Given the description of an element on the screen output the (x, y) to click on. 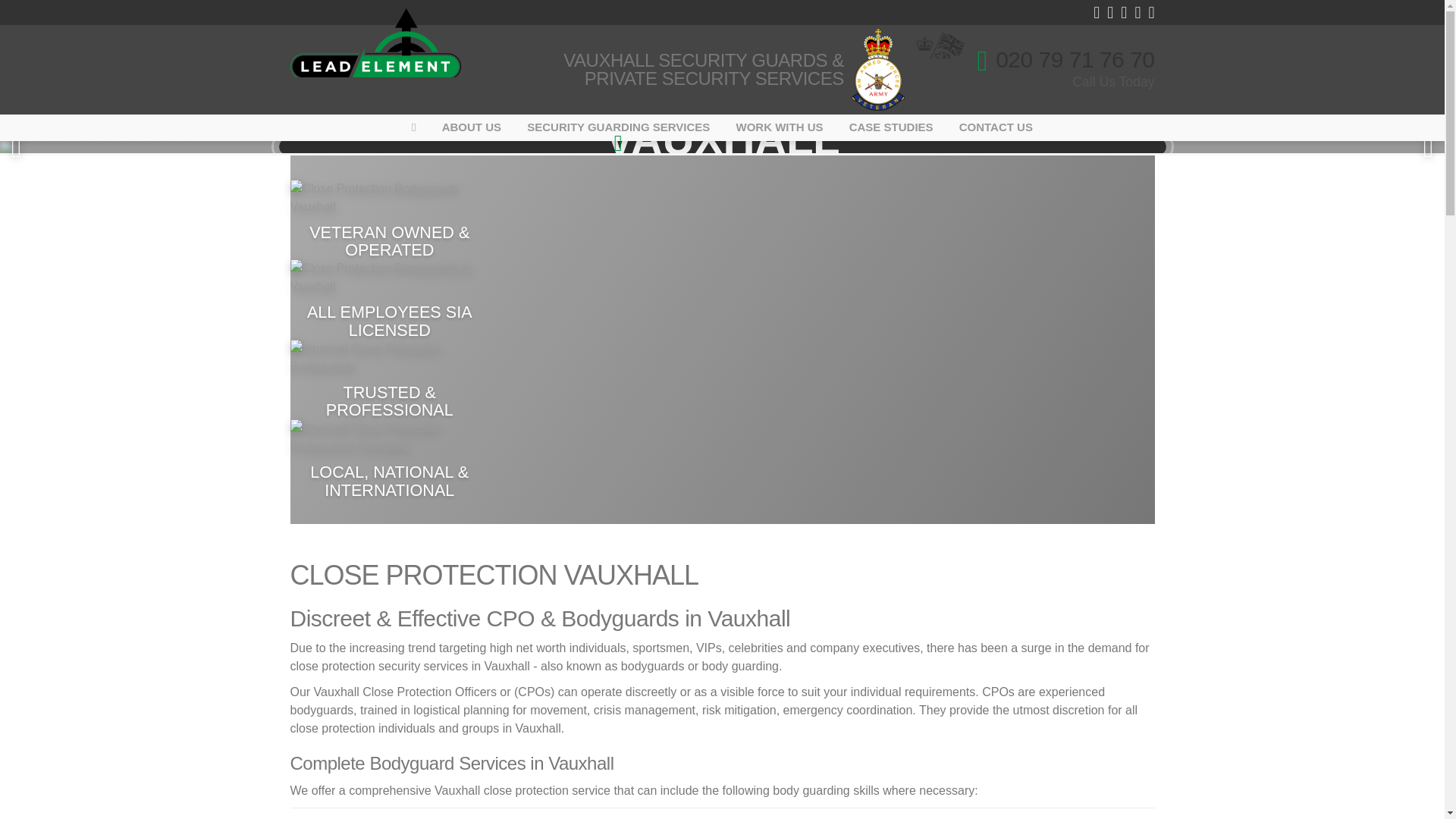
WORK WITH US (779, 127)
CASE STUDIES (891, 127)
CONTACT US (995, 127)
All Employees SIA Licensed (389, 277)
020 79 71 76 70 (1065, 59)
ABOUT US (471, 127)
ALL EMPLOYEES SIA LICENSED (389, 299)
SECURITY GUARDING SERVICES (617, 127)
